Given the description of an element on the screen output the (x, y) to click on. 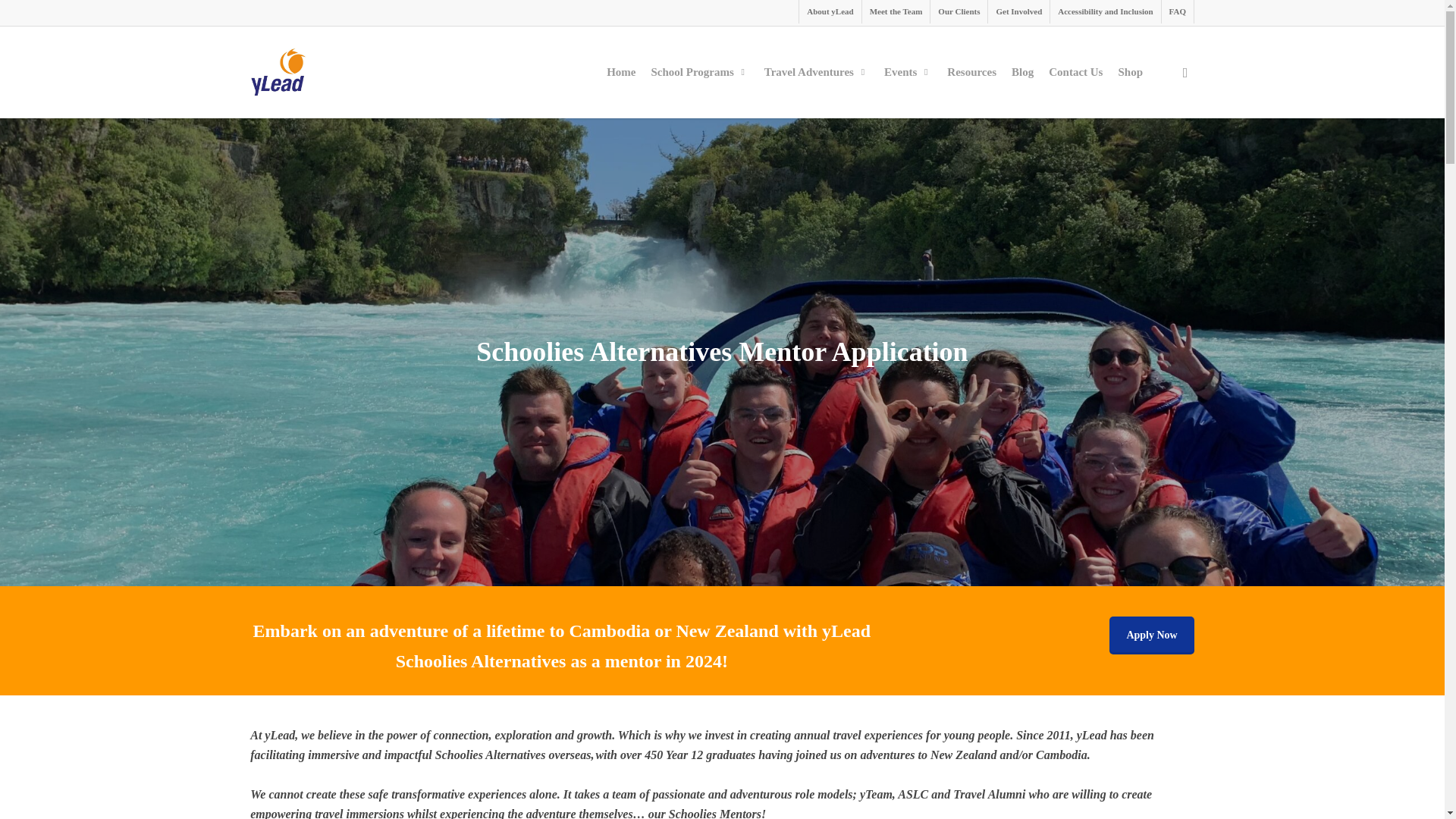
search (1184, 72)
Apply Now (1151, 635)
Travel Adventures (816, 71)
Home (620, 71)
Shop (1129, 71)
FAQ (1176, 11)
Blog (1022, 71)
School Programs (699, 71)
About yLead (828, 11)
Resources (971, 71)
Meet the Team (895, 11)
Contact Us (1075, 71)
Events (907, 71)
Our Clients (958, 11)
Accessibility and Inclusion (1104, 11)
